Given the description of an element on the screen output the (x, y) to click on. 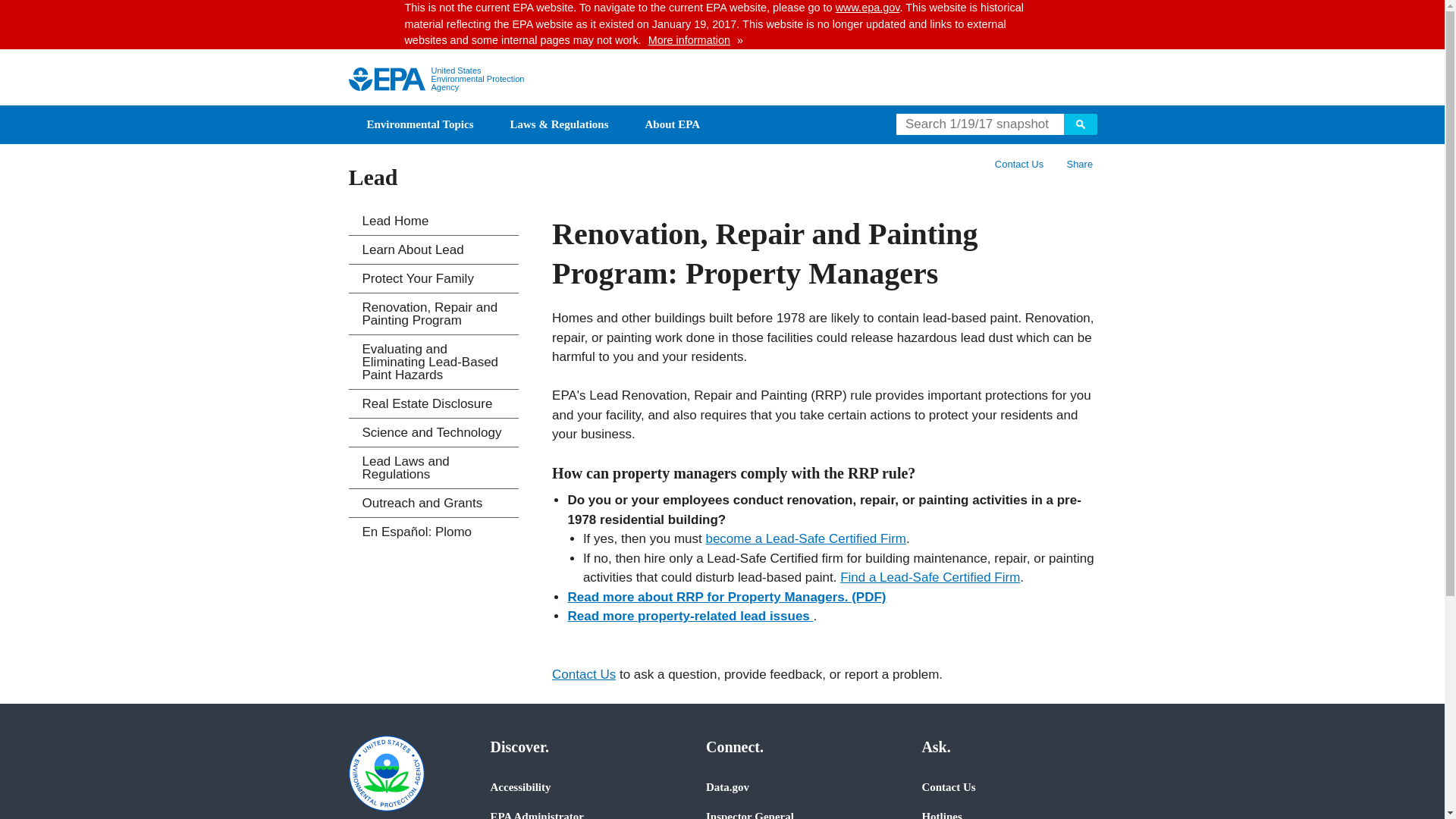
US EPA (387, 78)
Jump to main content (721, 9)
Go to the home page (387, 78)
More information (688, 39)
Search (1079, 124)
About EPA (673, 124)
www.epa.gov (867, 7)
Environmental Topics (420, 124)
Search (1079, 124)
